Given the description of an element on the screen output the (x, y) to click on. 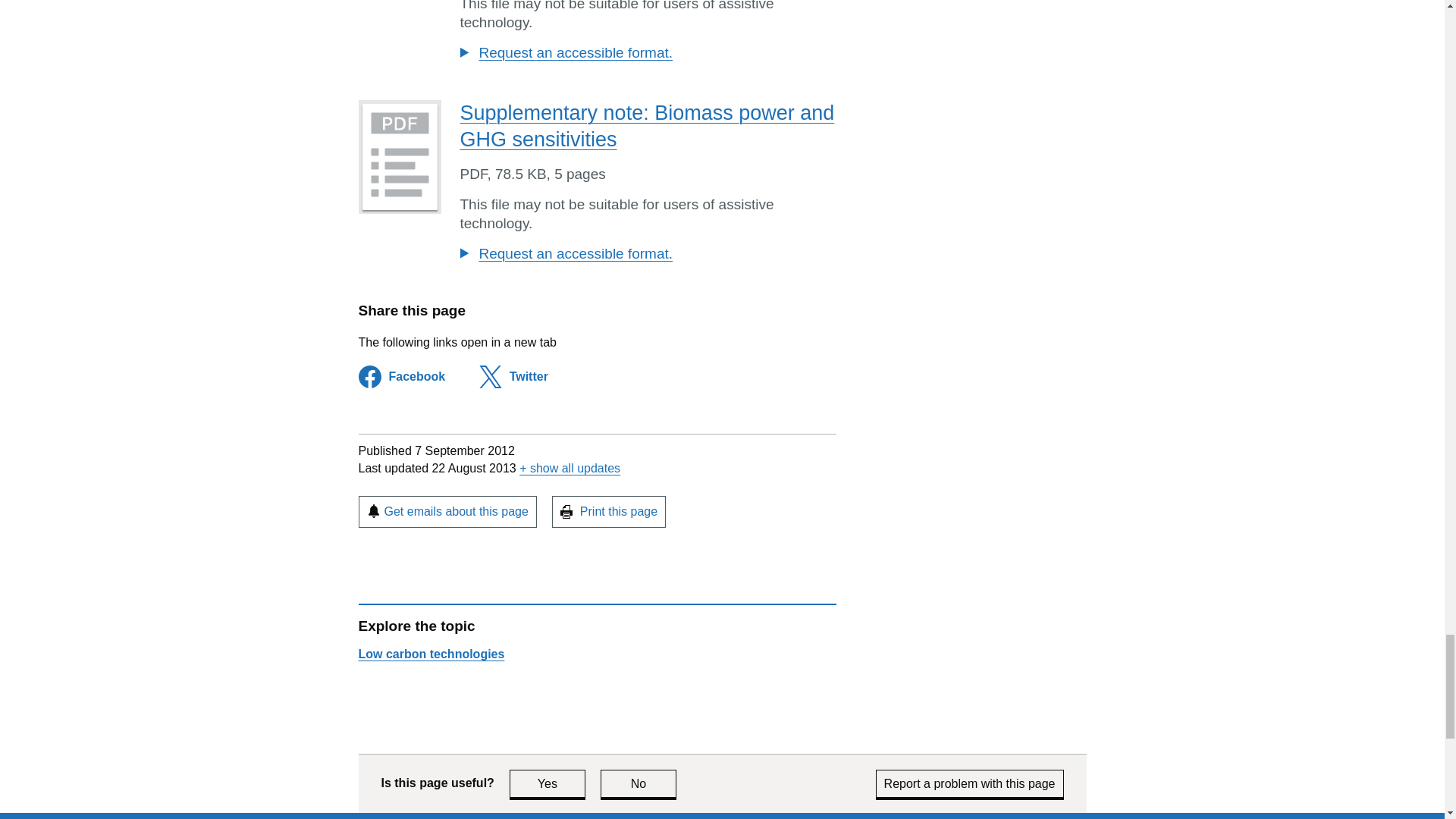
Portable Document Format (473, 173)
